Given the description of an element on the screen output the (x, y) to click on. 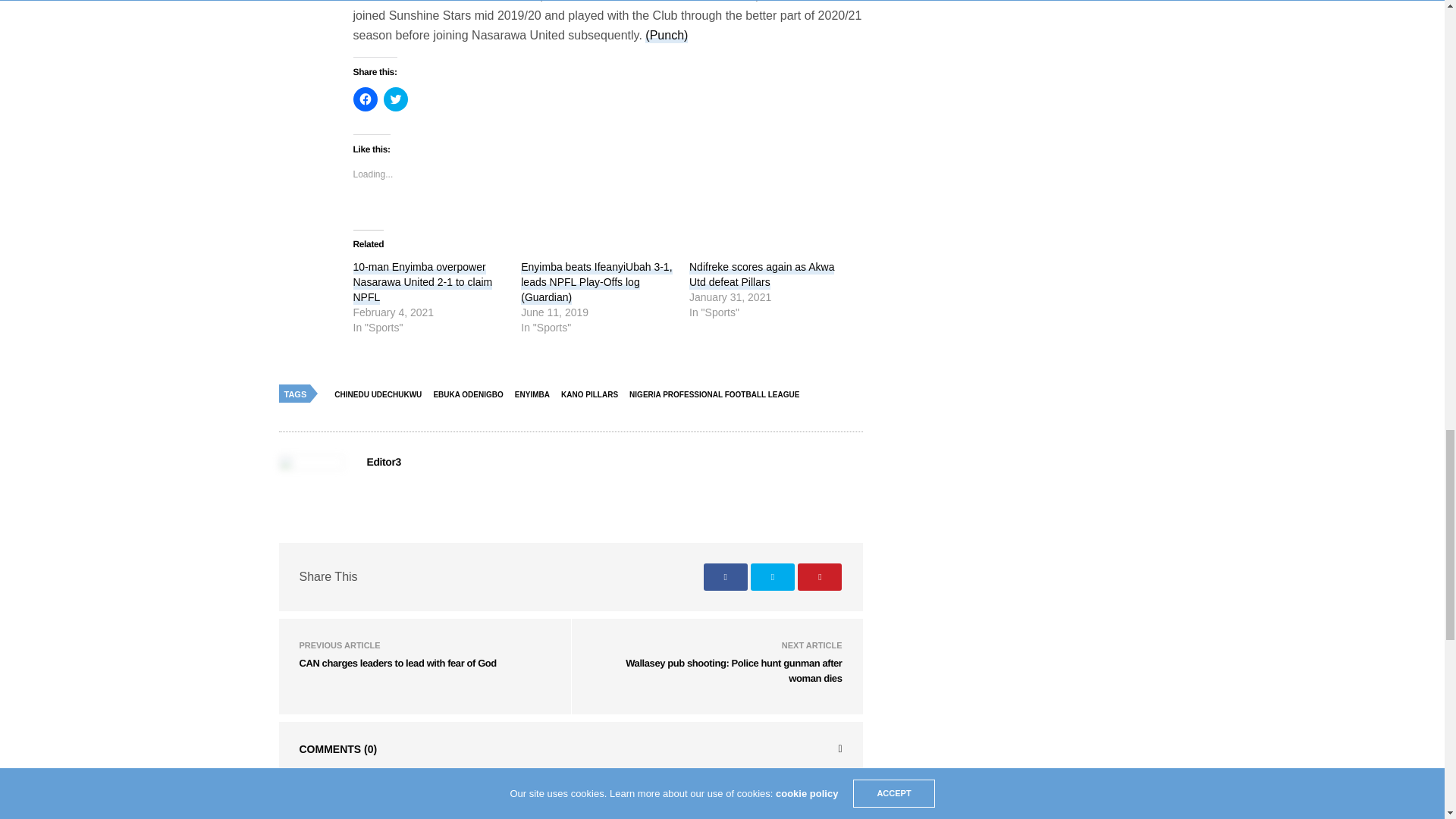
Click to share on Twitter (395, 98)
Click to share on Facebook (365, 98)
Ndifreke scores again as Akwa Utd defeat Pillars (761, 275)
10-man Enyimba overpower Nasarawa United 2-1 to claim NPFL (423, 282)
